Given the description of an element on the screen output the (x, y) to click on. 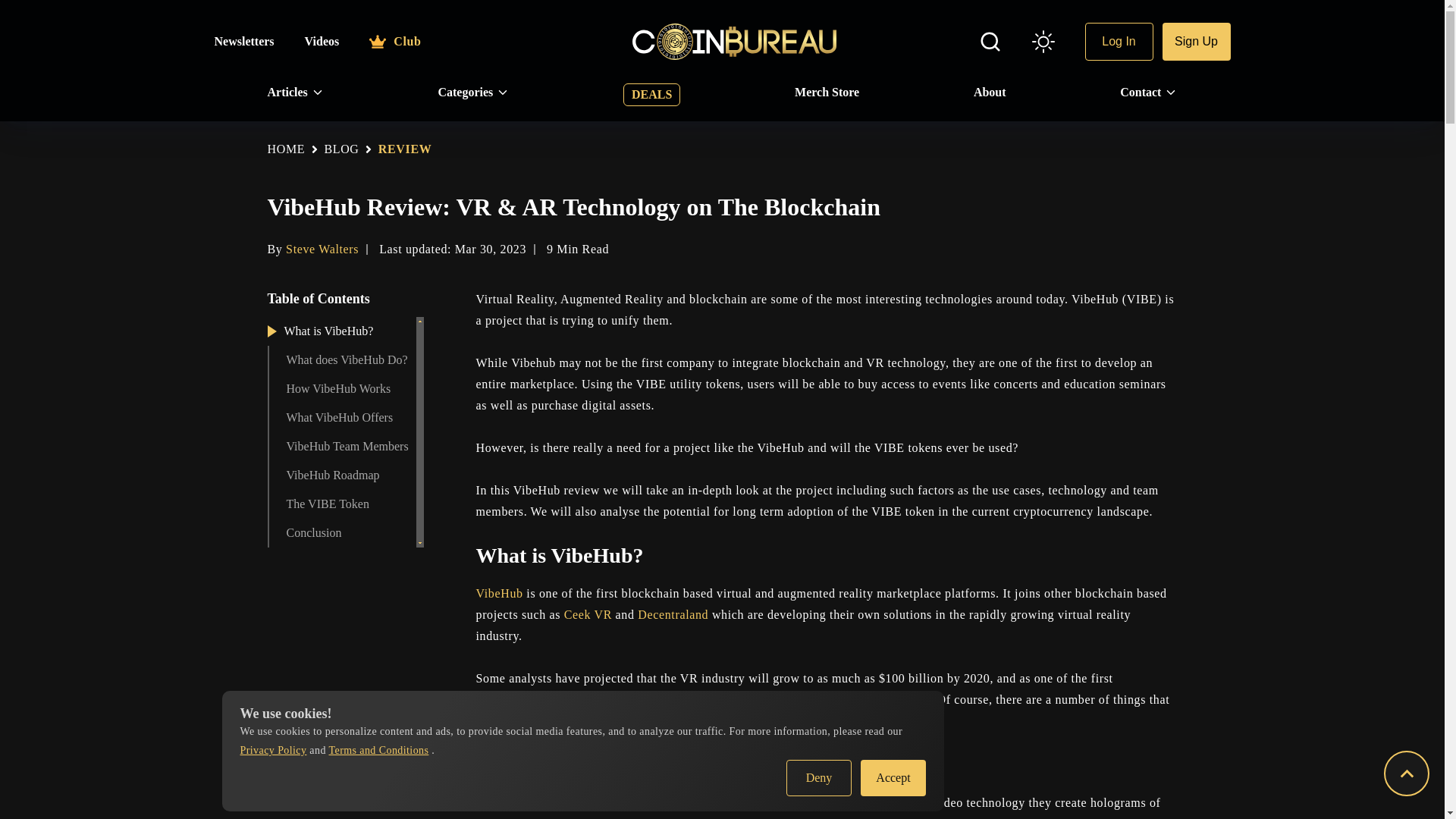
Merch Store (826, 92)
Sign Up (1195, 41)
Club (394, 41)
Log In (1118, 41)
Sign Up (1195, 41)
Videos (322, 41)
About (990, 92)
Log In (1118, 41)
DEALS (651, 94)
Newsletters (243, 41)
